Given the description of an element on the screen output the (x, y) to click on. 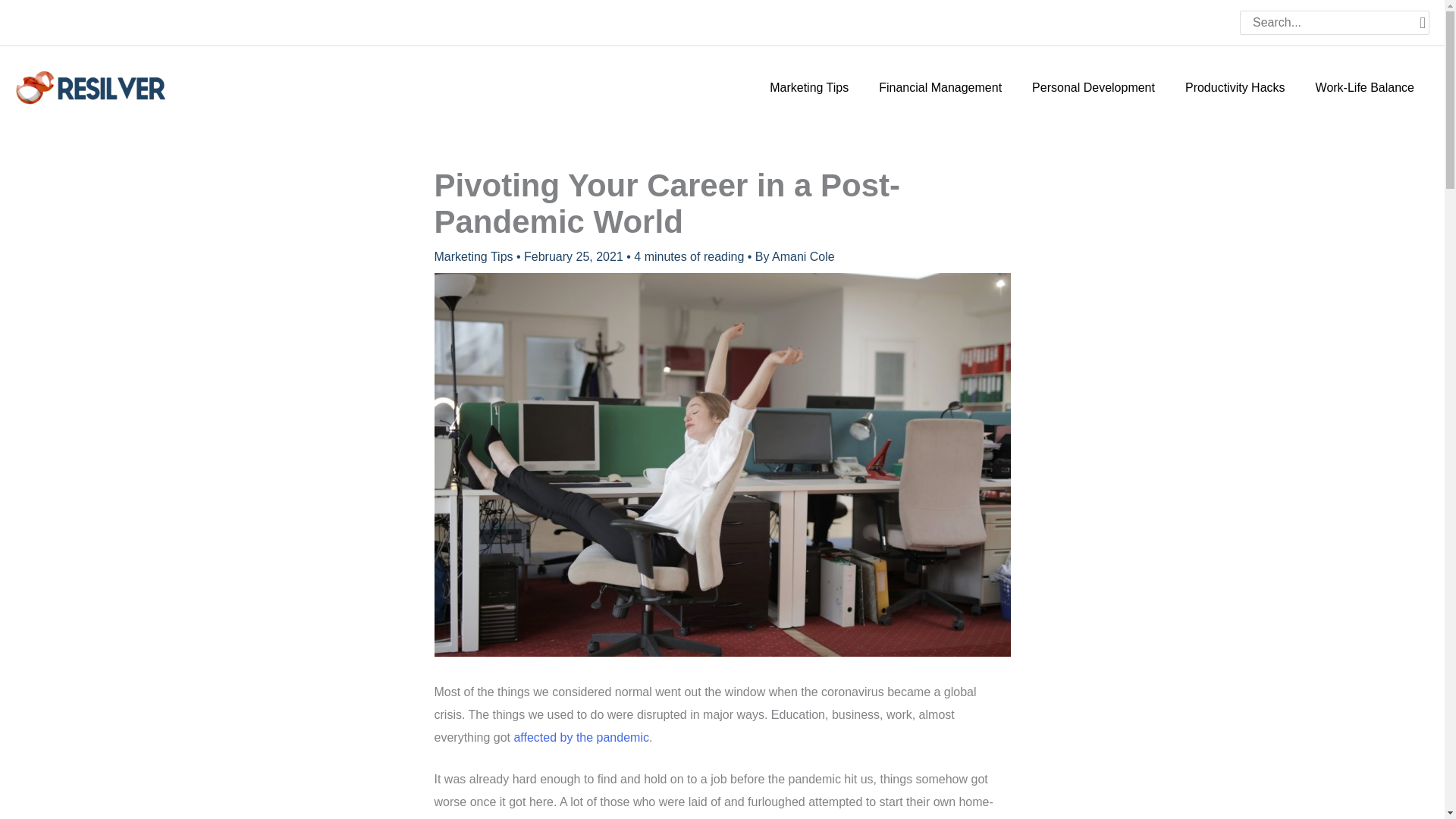
Amani Cole (802, 256)
Personal Development (1093, 87)
Marketing Tips (472, 256)
View all posts by Amani Cole (802, 256)
Productivity Hacks (1235, 87)
Financial Management (939, 87)
Marketing Tips (808, 87)
affected by the pandemic (581, 737)
Work-Life Balance (1364, 87)
